Given the description of an element on the screen output the (x, y) to click on. 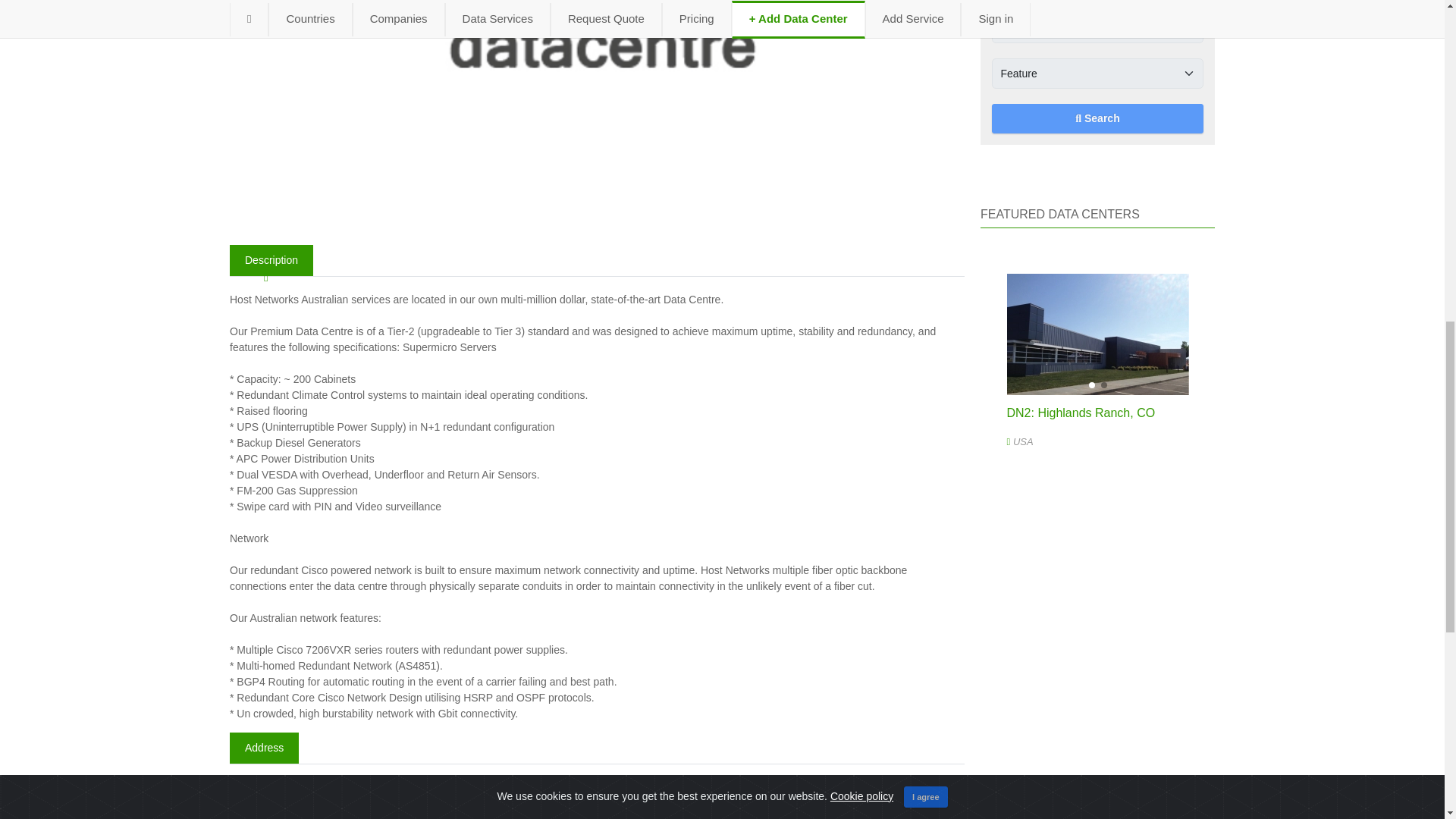
Description (271, 260)
Host Group of Companies Pty Ltd. (310, 787)
Address (264, 747)
Australia (501, 787)
Search (1097, 118)
DN2: Highlands Ranch, CO (1081, 412)
